Given the description of an element on the screen output the (x, y) to click on. 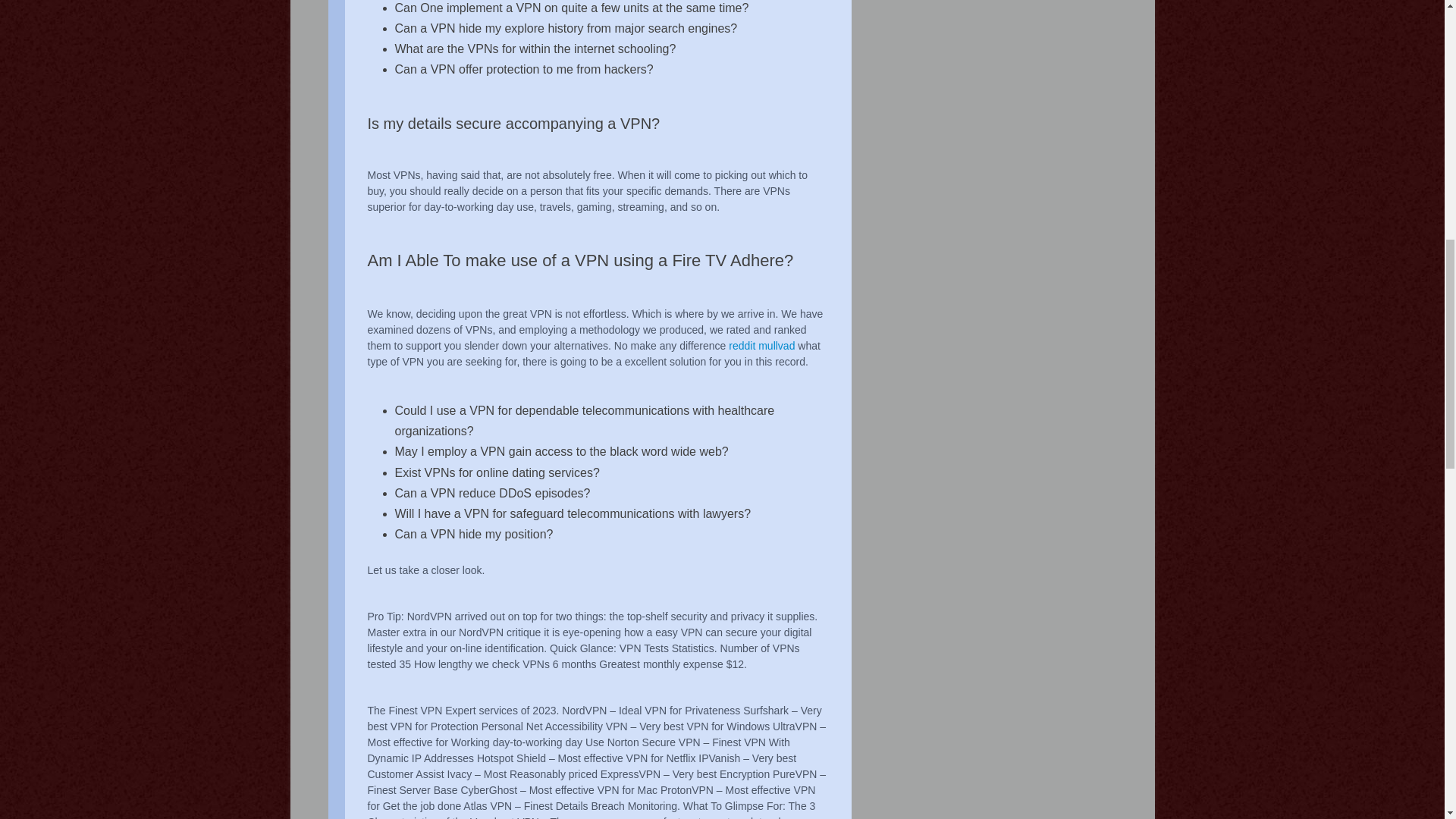
reddit mullvad (761, 345)
